Given the description of an element on the screen output the (x, y) to click on. 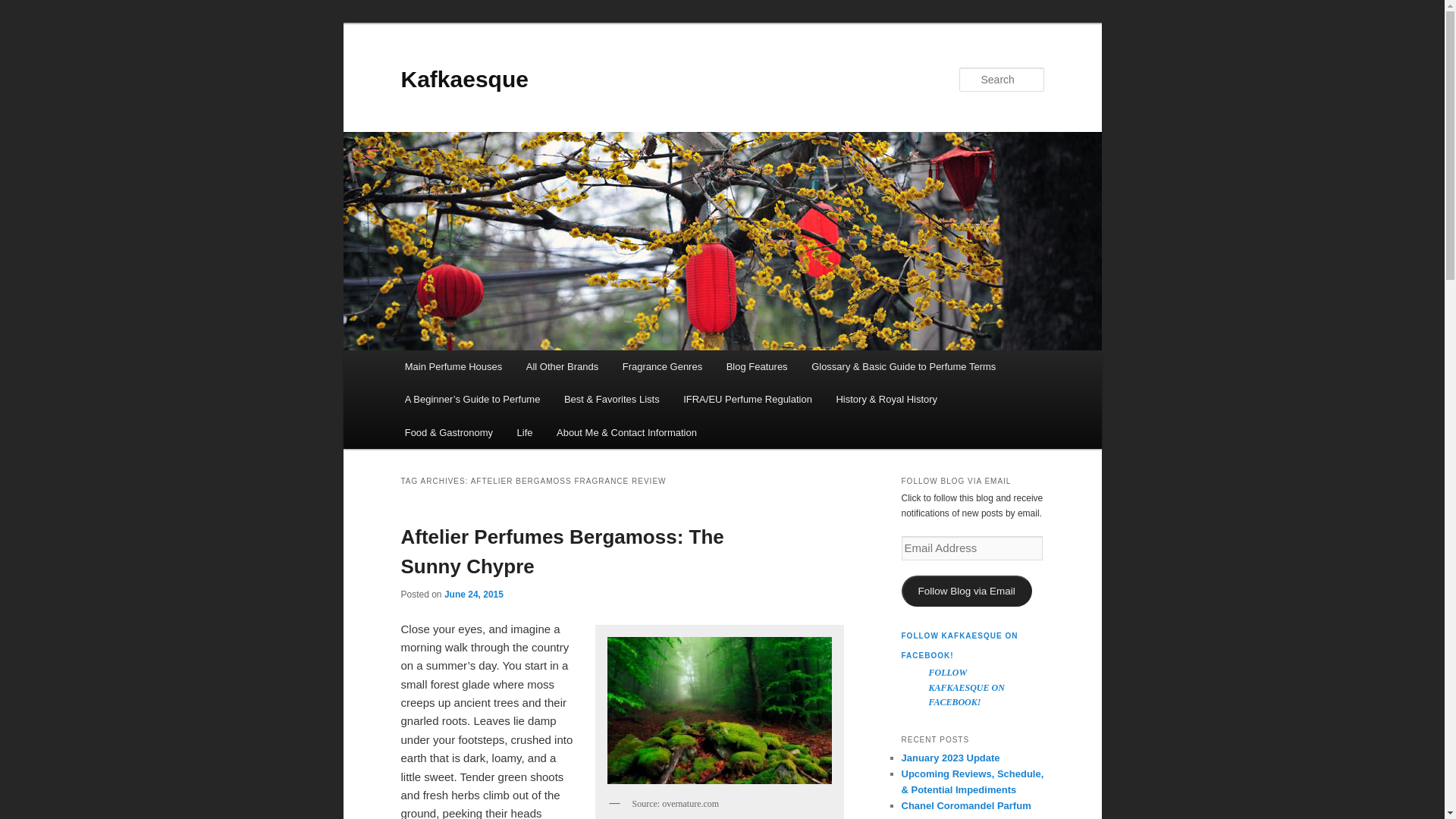
11:17 am (473, 593)
Main Perfume Houses (453, 366)
Kafkaesque (463, 78)
Kafkaesque (463, 78)
Search (24, 8)
All Other Brands (561, 366)
